Given the description of an element on the screen output the (x, y) to click on. 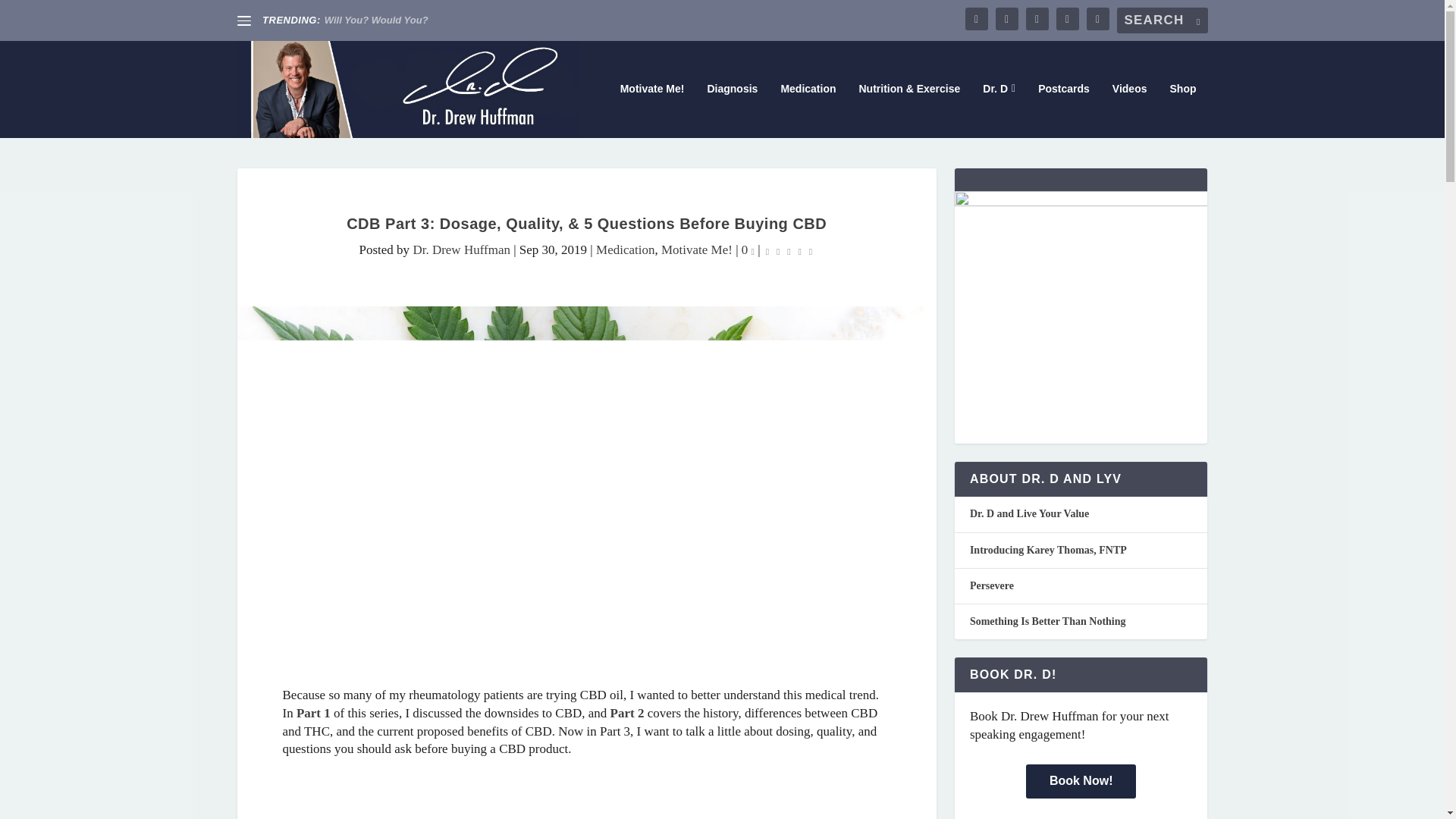
Dr. Drew Huffman (461, 249)
Postcards (1063, 110)
Part 1 (315, 712)
Diagnosis (731, 110)
Part 2 (627, 712)
Motivate Me! (652, 110)
Will You? Would You? (376, 19)
0 (747, 249)
Posts by Dr. Drew Huffman (461, 249)
Medication (624, 249)
